Given the description of an element on the screen output the (x, y) to click on. 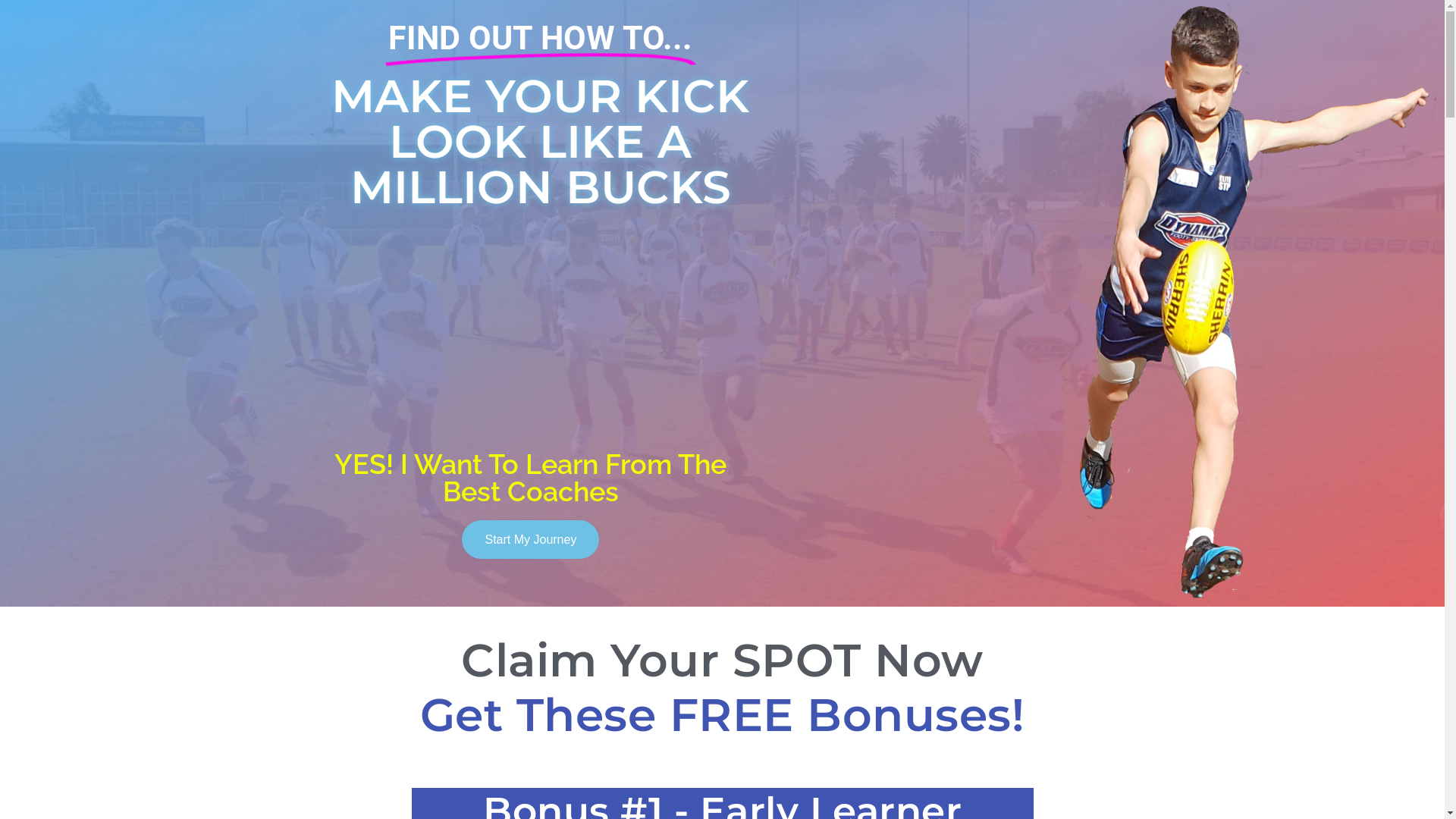
Start My Journey Element type: text (530, 539)
